Given the description of an element on the screen output the (x, y) to click on. 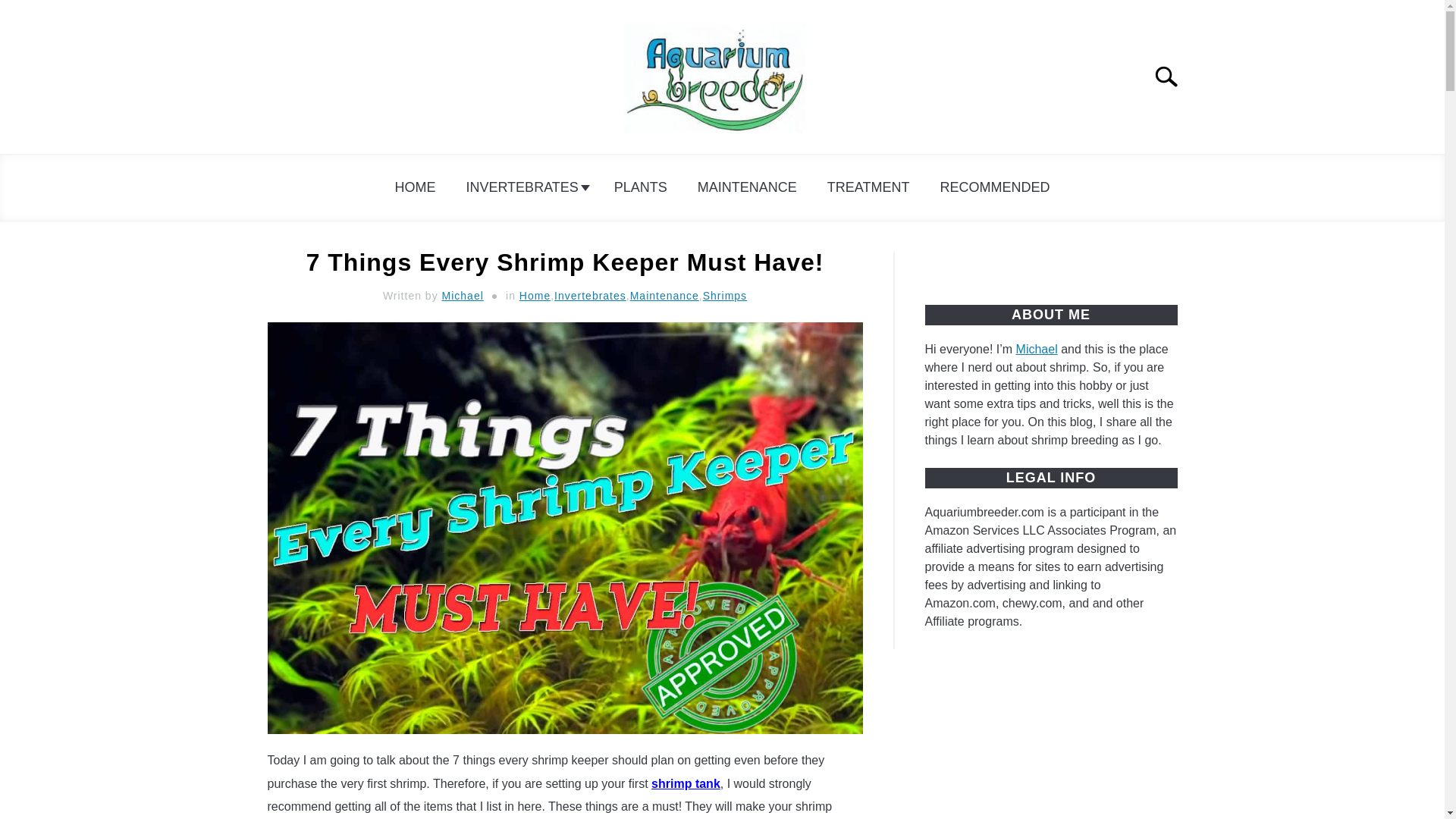
Shrimps (724, 295)
Search (1172, 76)
Invertebrates (590, 295)
Michael (462, 295)
Home (534, 295)
shrimp tank (685, 783)
HOME (413, 187)
RECOMMENDED (994, 187)
PLANTS (640, 187)
INVERTEBRATES (523, 187)
